Given the description of an element on the screen output the (x, y) to click on. 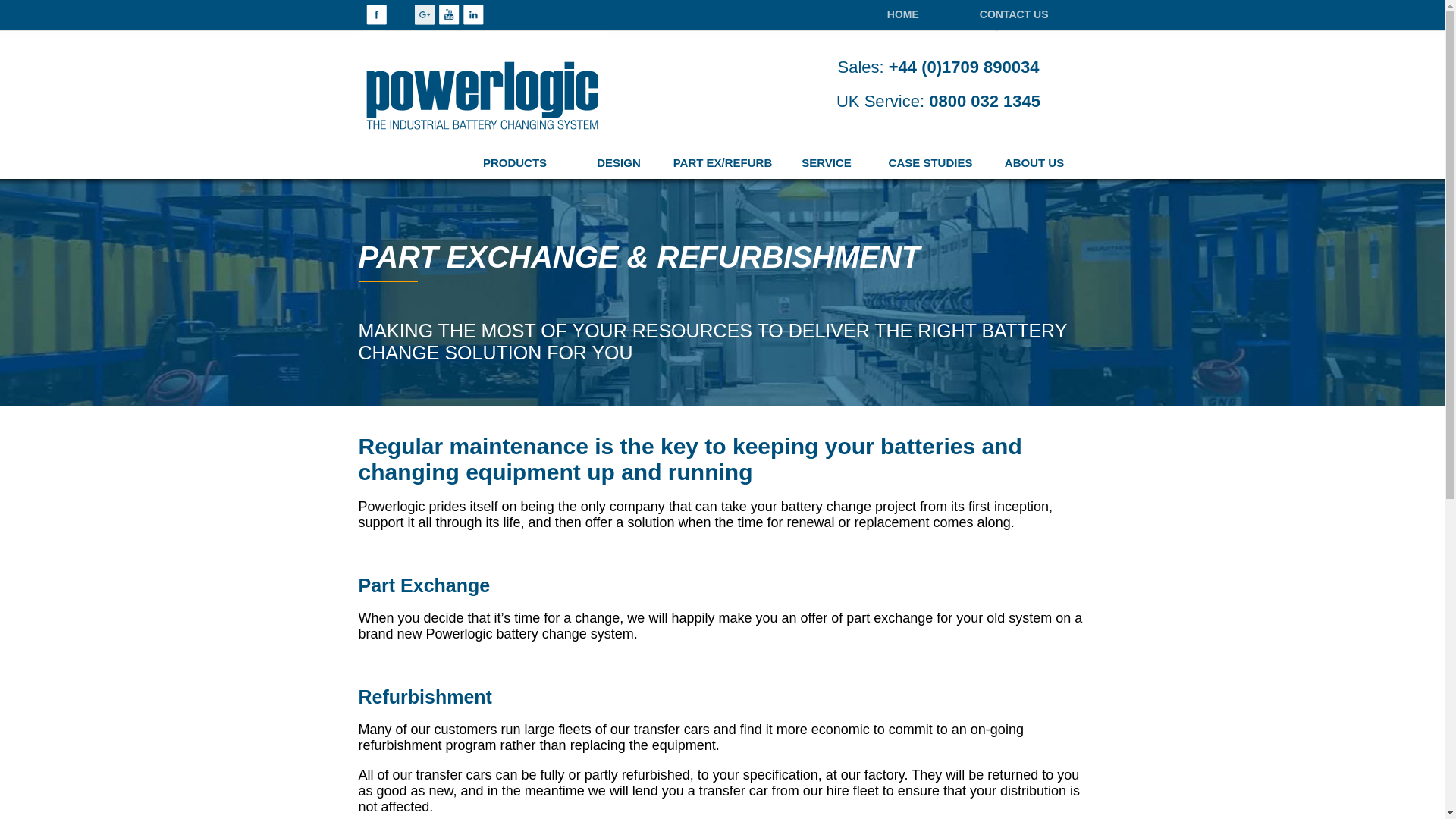
DESIGN (619, 164)
Facebook (375, 14)
HOME (903, 15)
Powerlogic - The Industrial Battery Changing System (528, 88)
CONTACT US (1013, 15)
View our YouTube Channel (448, 14)
PRODUCTS (514, 164)
LinkedIn (473, 14)
View our LinkedIn page (473, 14)
See our Facebook Page (375, 14)
Twitter (400, 14)
See our Twitter Feed (400, 14)
CASE STUDIES (929, 164)
YouTube (448, 14)
SERVICE (826, 164)
